Given the description of an element on the screen output the (x, y) to click on. 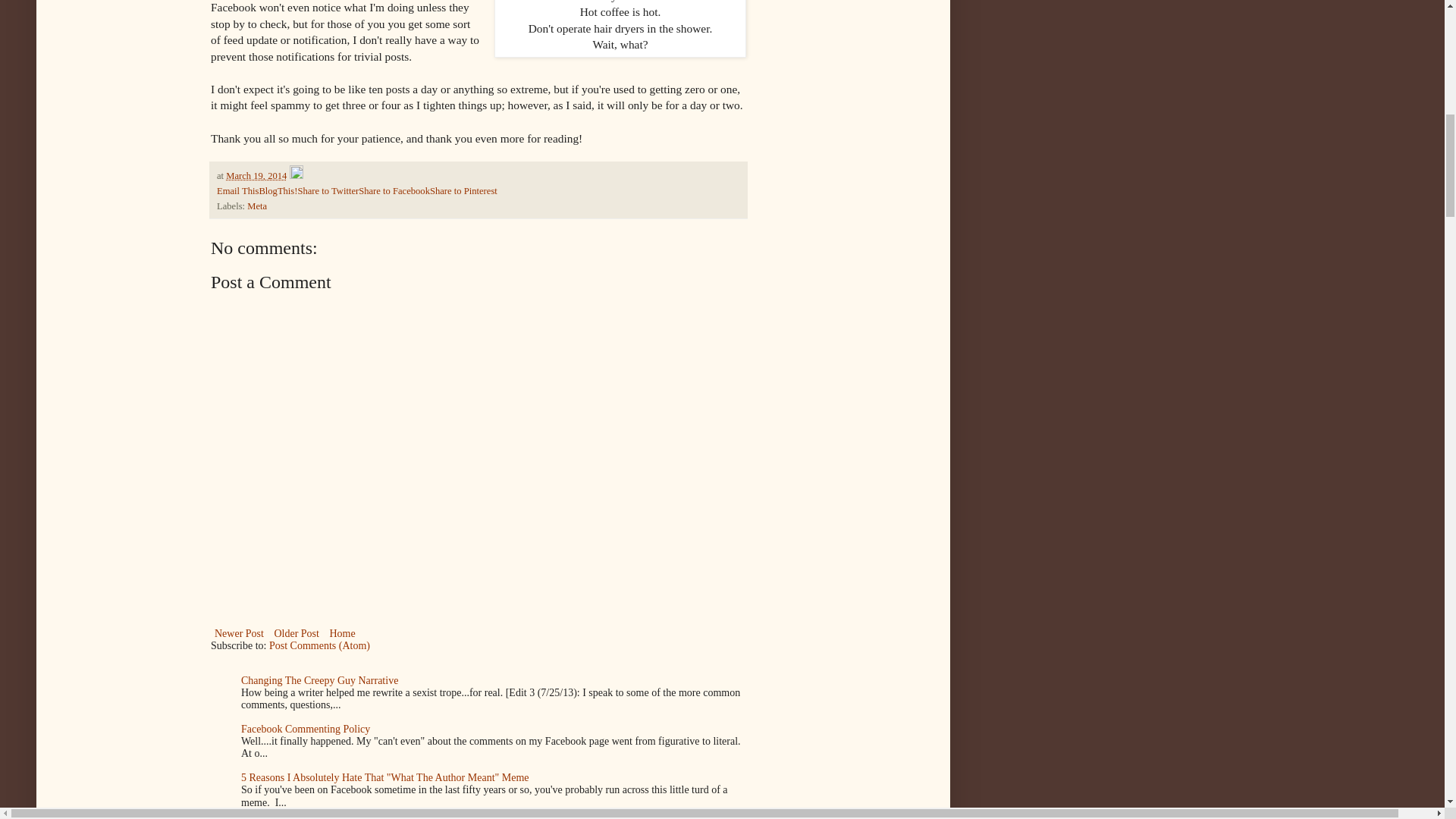
Newer Post (239, 633)
Older Post (296, 633)
Share to Twitter (327, 190)
Home (341, 633)
Share to Pinterest (463, 190)
Meta (256, 205)
BlogThis! (278, 190)
Email This (237, 190)
Share to Facebook (393, 190)
Newer Post (239, 633)
Edit Post (295, 175)
Share to Facebook (393, 190)
March 19, 2014 (255, 175)
Older Post (296, 633)
